Given the description of an element on the screen output the (x, y) to click on. 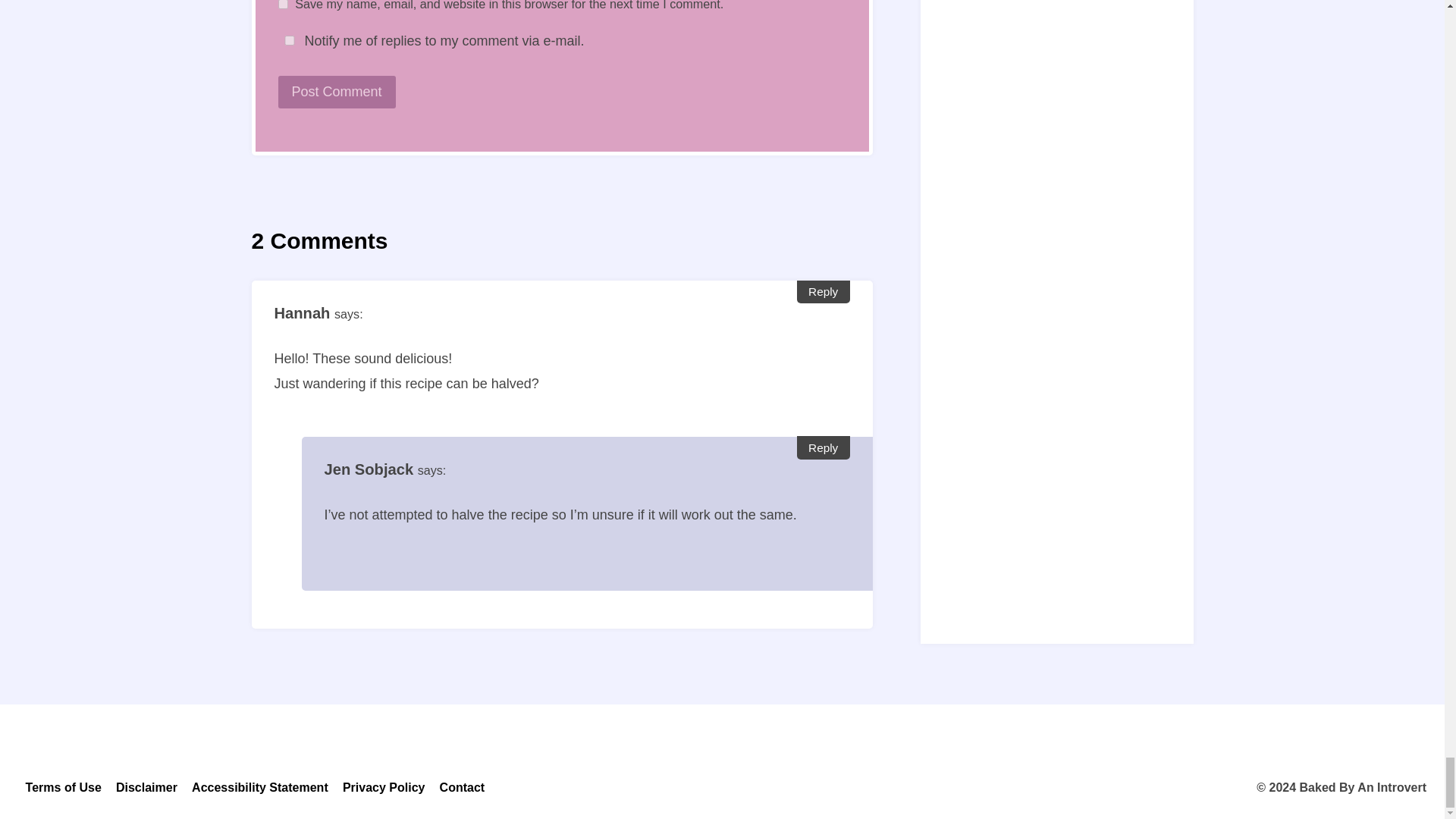
Post Comment (336, 92)
replies (288, 40)
yes (282, 4)
